Given the description of an element on the screen output the (x, y) to click on. 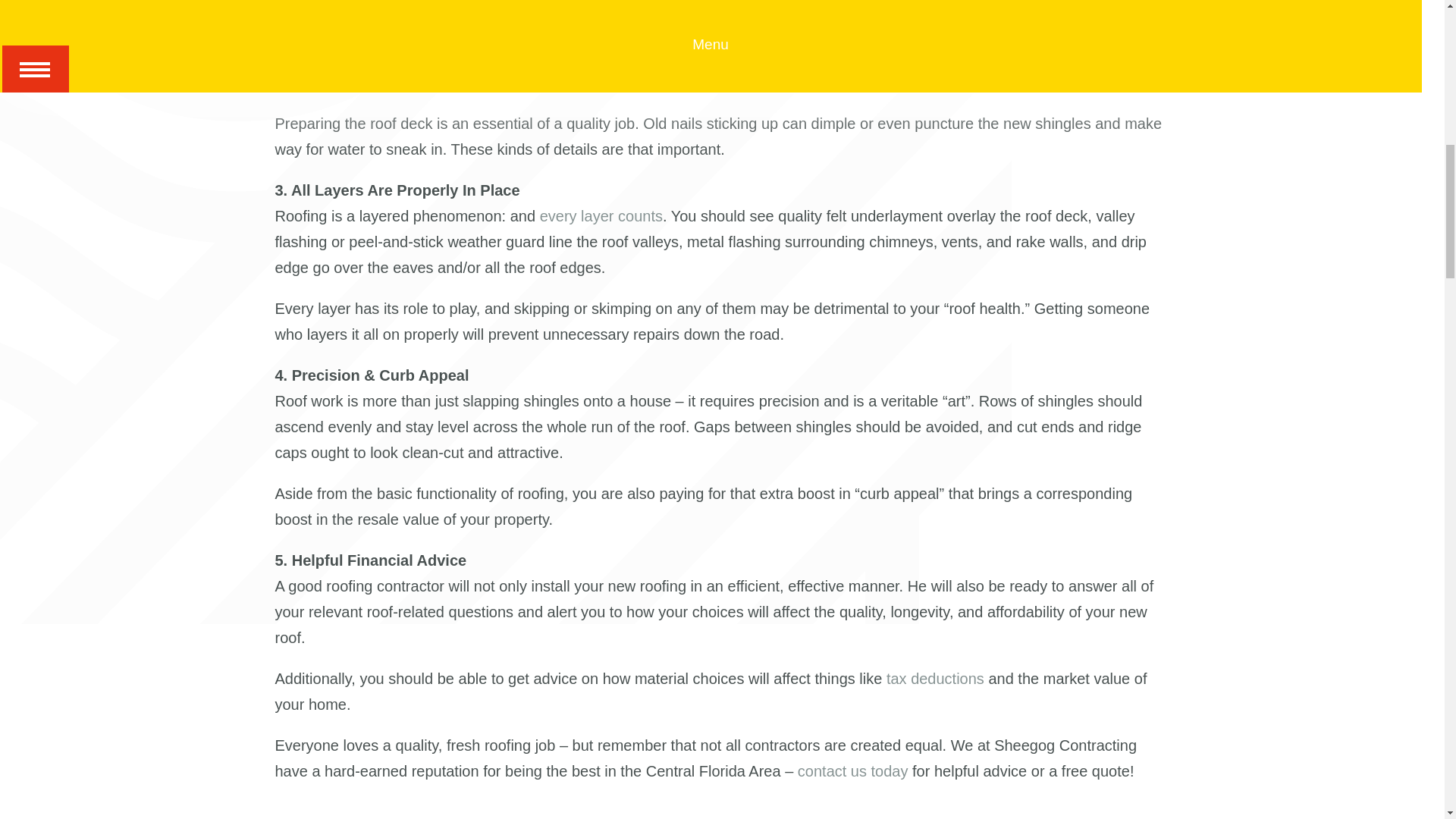
every layer counts (601, 216)
tax deductions (935, 678)
contact us today (852, 770)
